Given the description of an element on the screen output the (x, y) to click on. 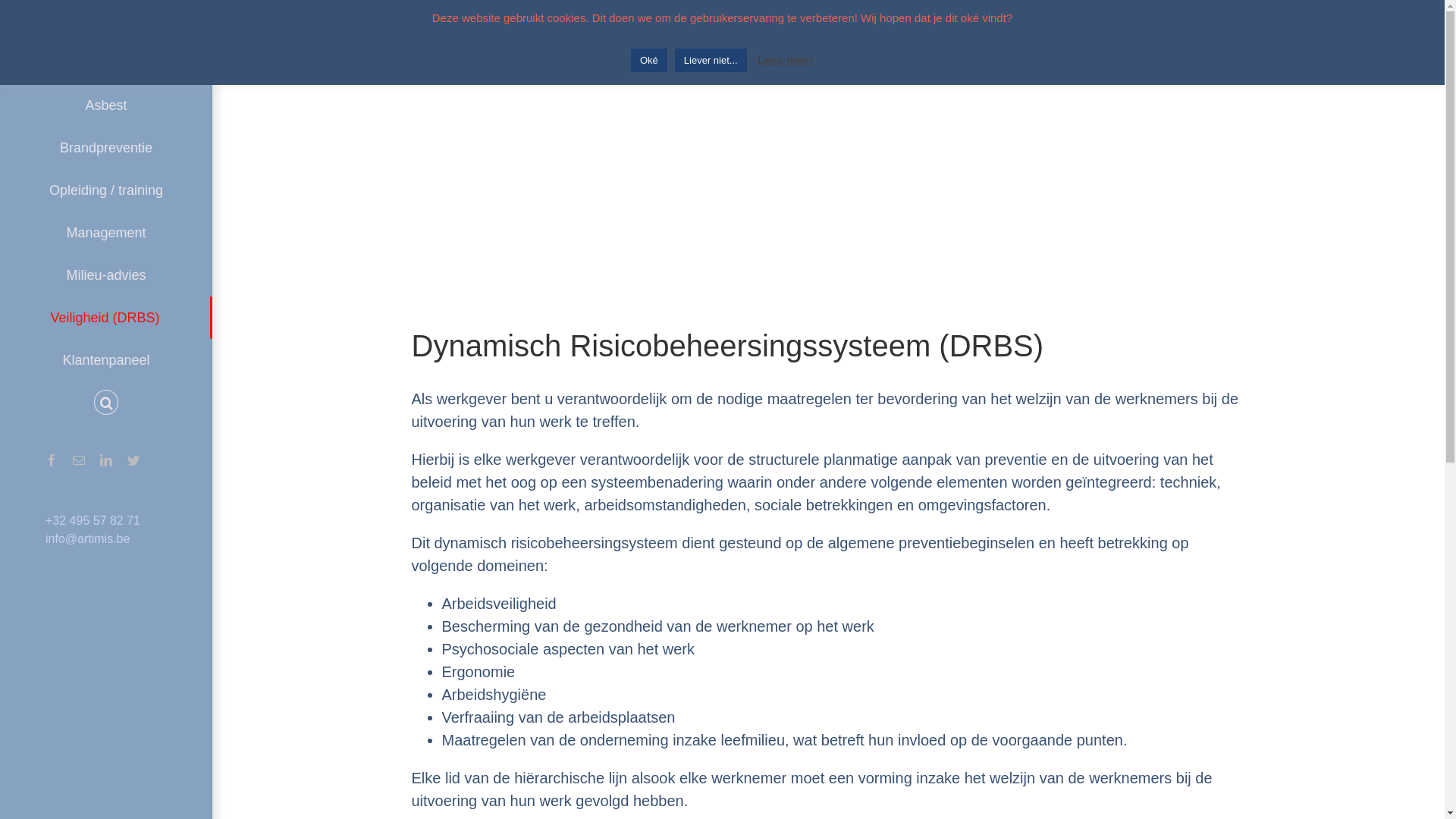
Management Element type: text (106, 232)
Twitter Element type: text (133, 460)
Brandpreventie Element type: text (106, 147)
Zoeken Element type: hover (106, 402)
Milieu-advies Element type: text (106, 275)
Asbest Element type: text (106, 104)
Klantenpaneel Element type: text (106, 359)
E-mail Element type: text (78, 460)
Opleiding / training Element type: text (106, 190)
Lees meer Element type: text (785, 59)
LinkedIn Element type: text (106, 460)
Veiligheid (DRBS) Element type: text (106, 317)
Facebook Element type: text (51, 460)
Liever niet... Element type: text (710, 60)
